Given the description of an element on the screen output the (x, y) to click on. 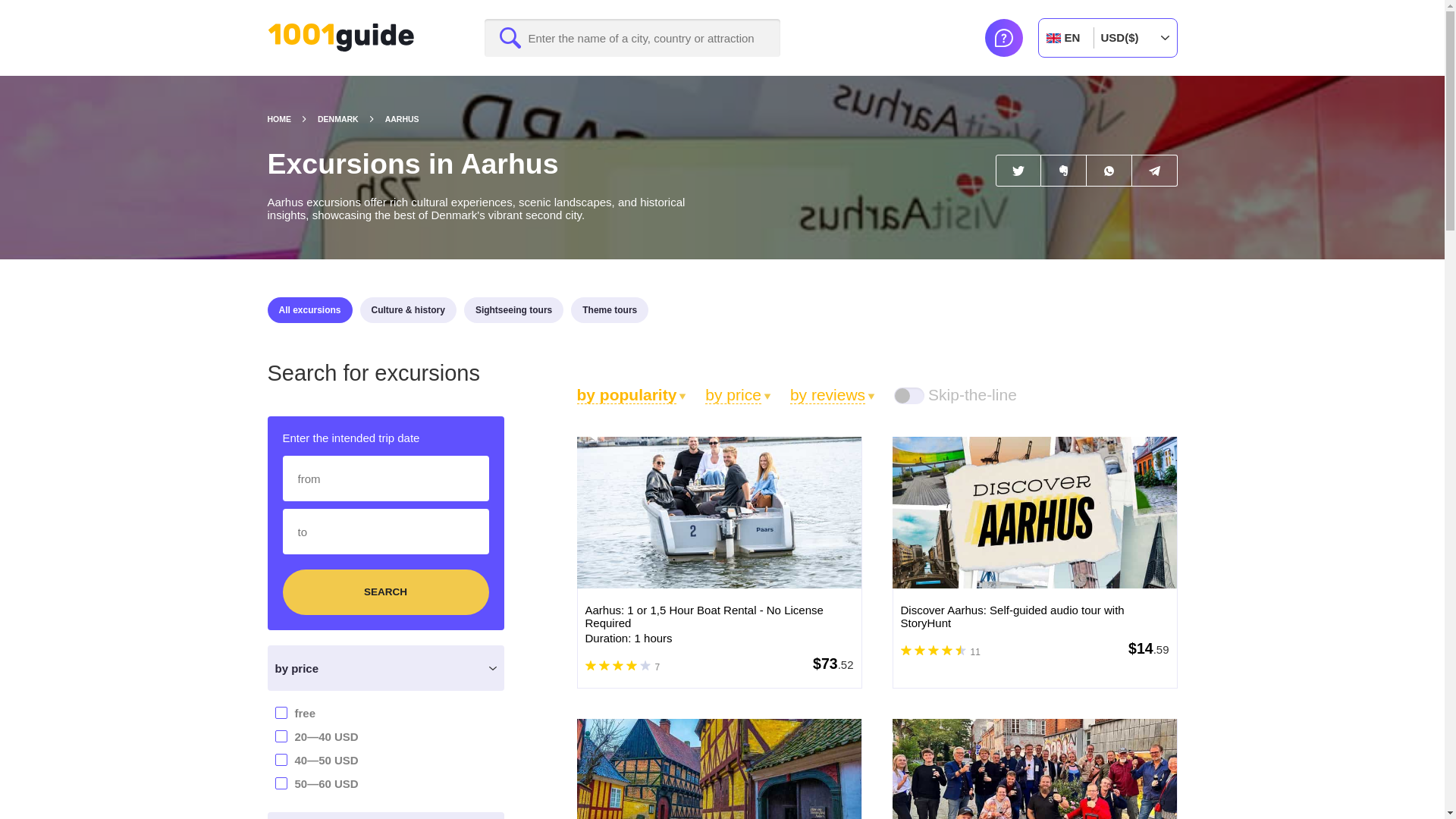
1001guide.com (340, 37)
Sightseeing tours (513, 309)
20,40 (204, 735)
Theme tours (608, 309)
0,0 (204, 711)
40,50 (204, 758)
Help center (1003, 37)
by reviews (832, 394)
Telegram (1153, 170)
All excursions (309, 309)
